Given the description of an element on the screen output the (x, y) to click on. 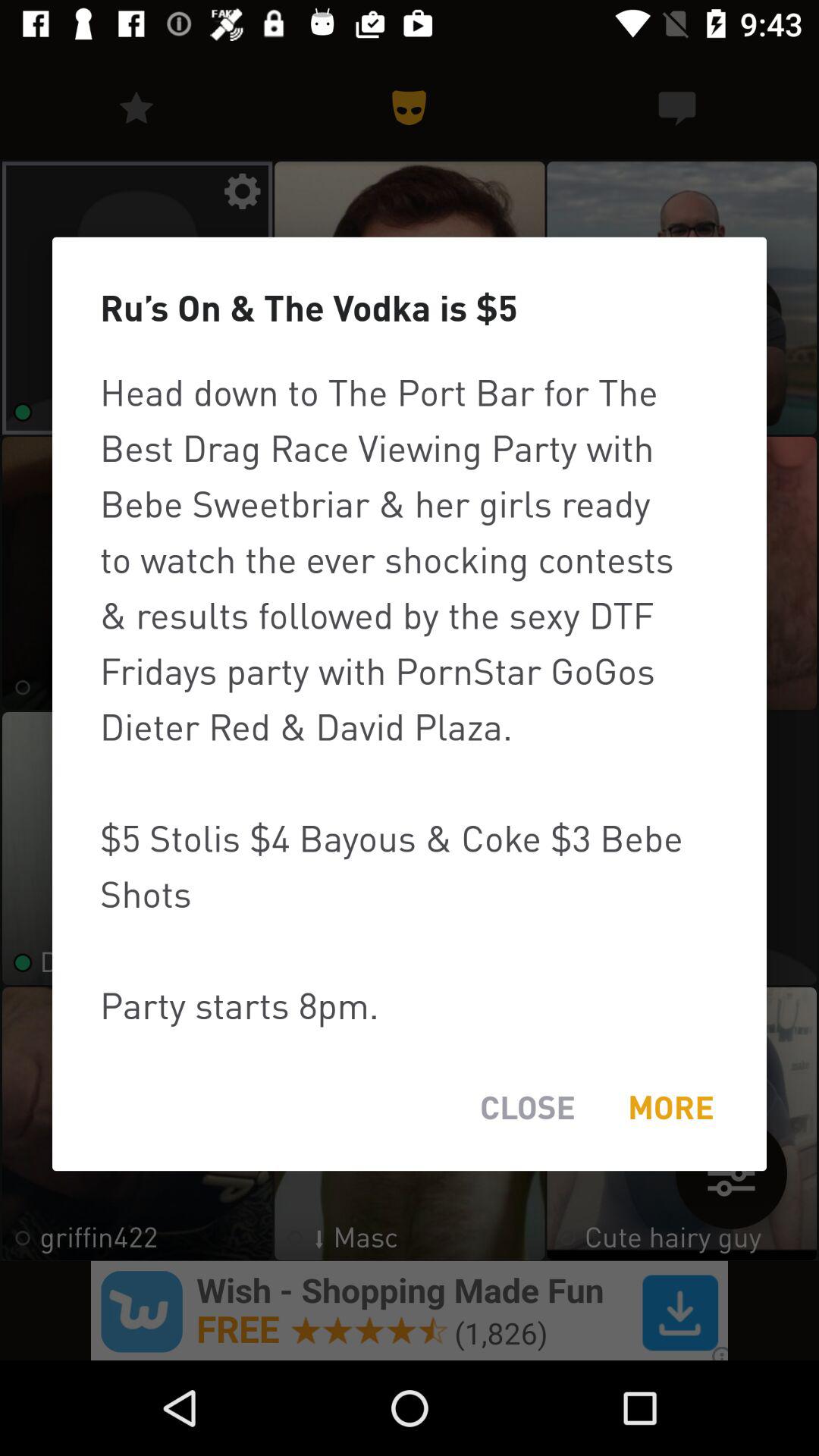
swipe until more (670, 1107)
